Given the description of an element on the screen output the (x, y) to click on. 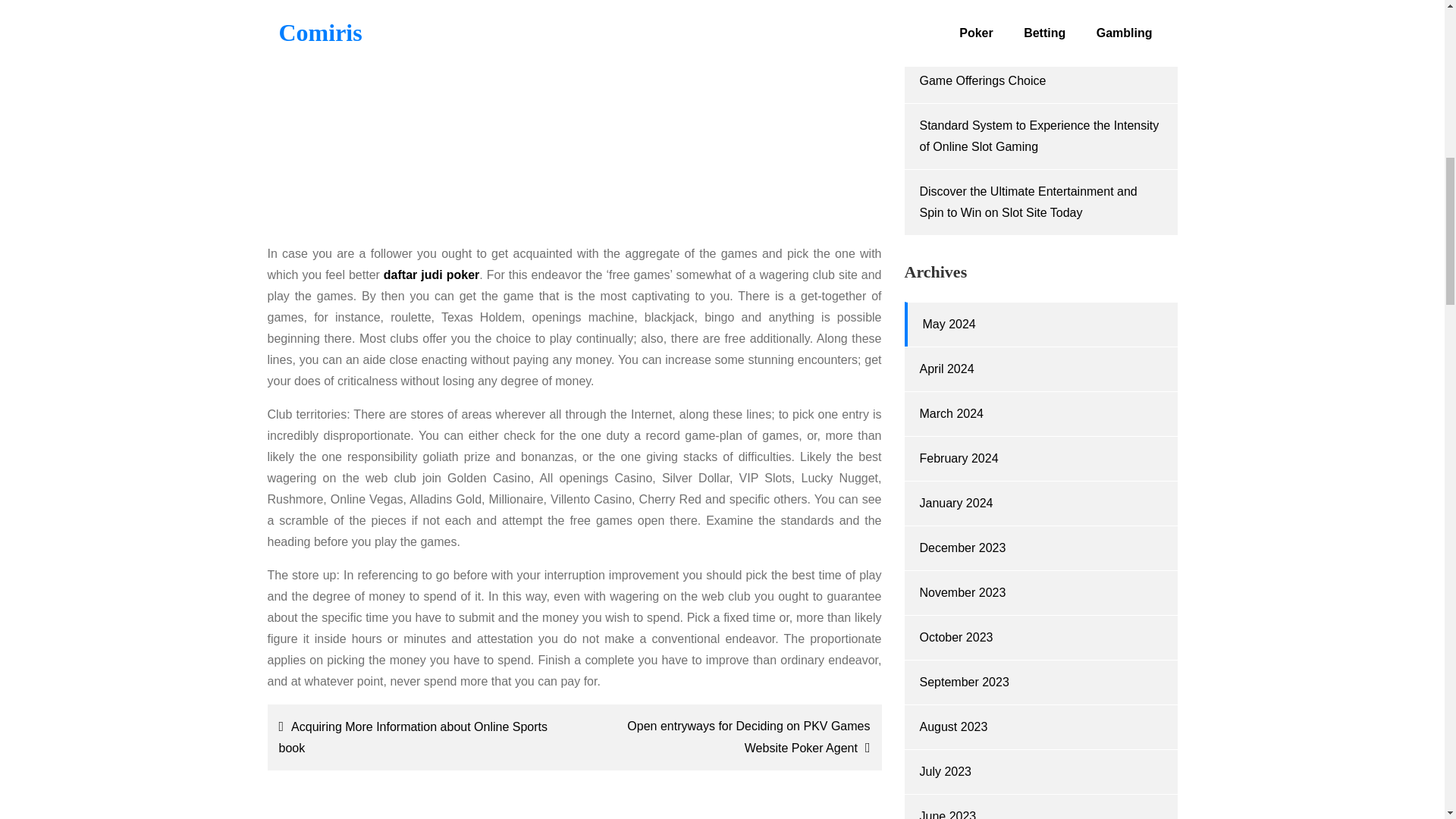
January 2024 (955, 502)
March 2024 (951, 413)
November 2023 (962, 592)
September 2023 (963, 681)
February 2024 (957, 458)
April 2024 (946, 368)
May 2024 (948, 323)
August 2023 (952, 726)
daftar judi poker (431, 274)
June 2023 (946, 814)
Open entryways for Deciding on PKV Games Website Poker Agent (730, 737)
Acquiring More Information about Online Sports book (417, 737)
